Given the description of an element on the screen output the (x, y) to click on. 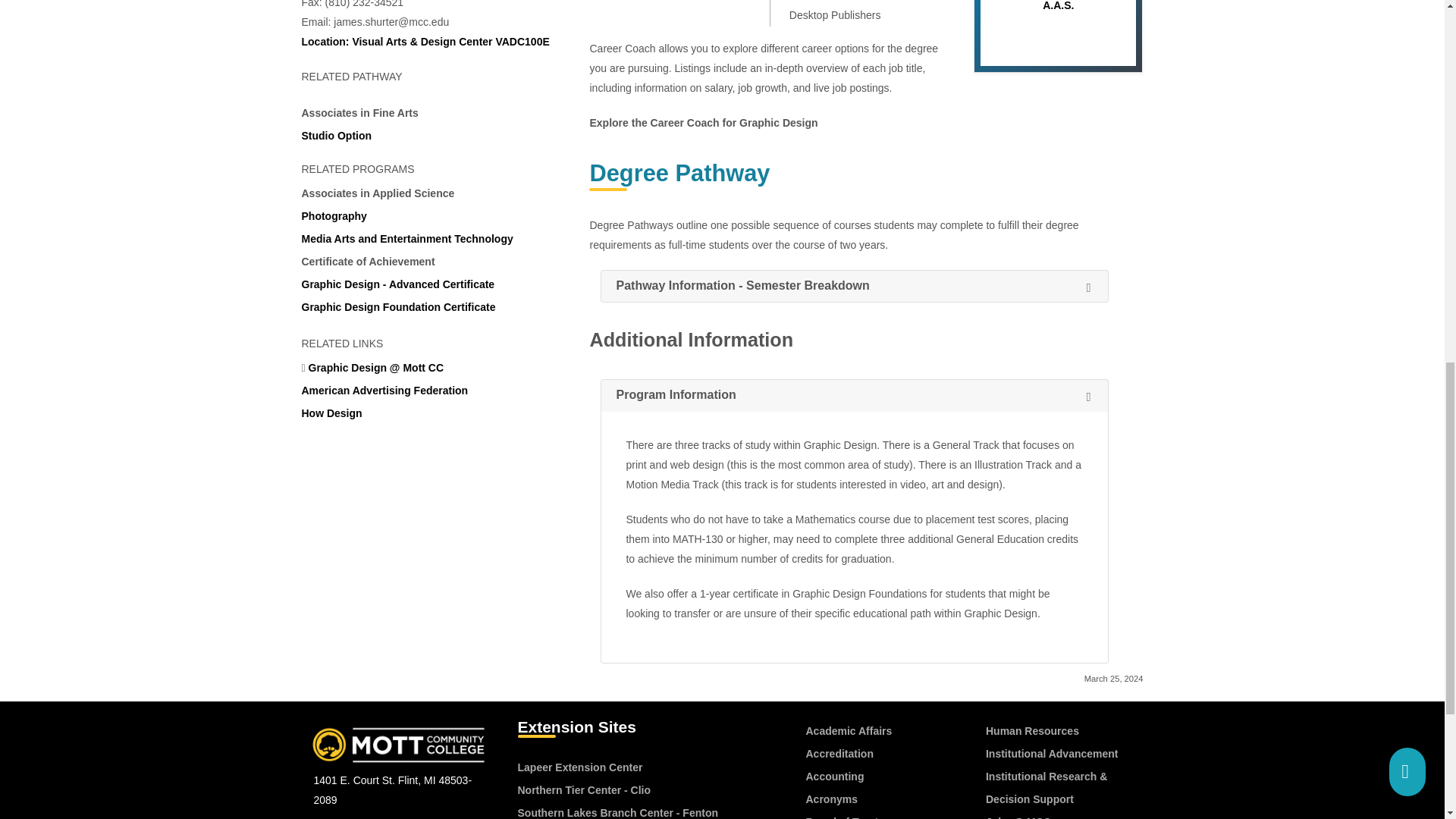
Photography (333, 215)
Studio Option (336, 135)
